Given the description of an element on the screen output the (x, y) to click on. 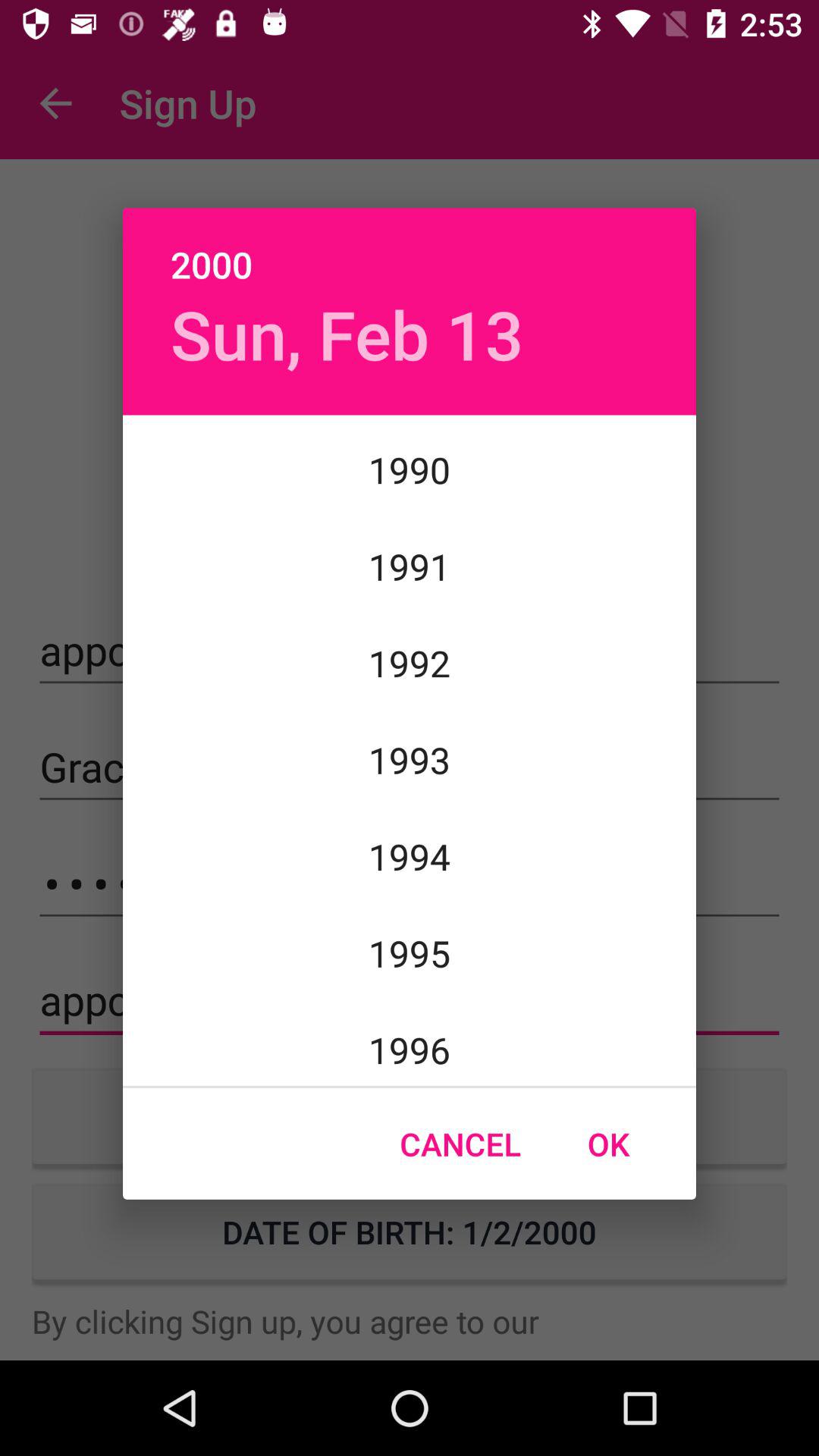
launch ok (608, 1143)
